Given the description of an element on the screen output the (x, y) to click on. 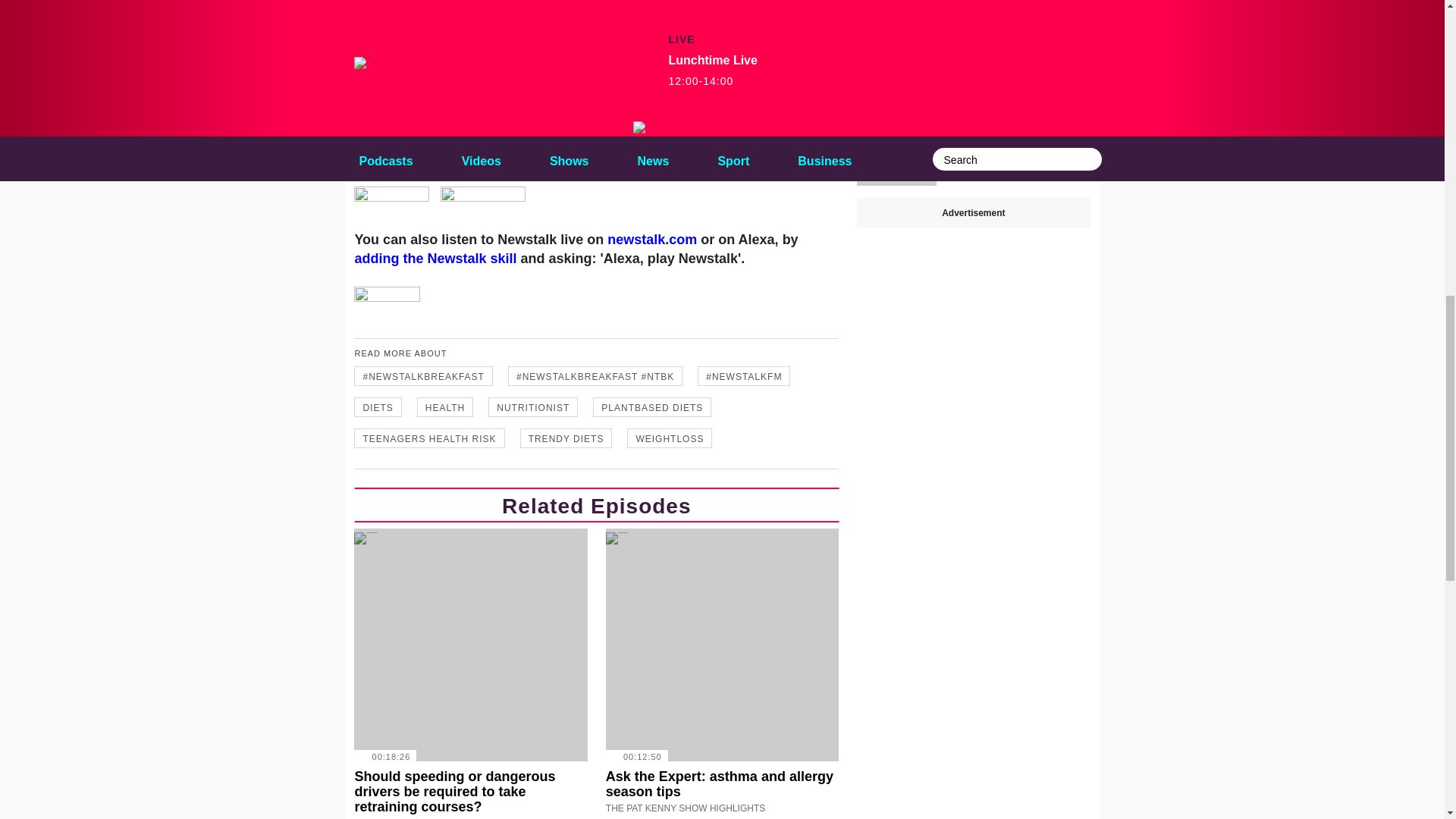
Apple Podcasts (711, 78)
Spotify (806, 78)
